Given the description of an element on the screen output the (x, y) to click on. 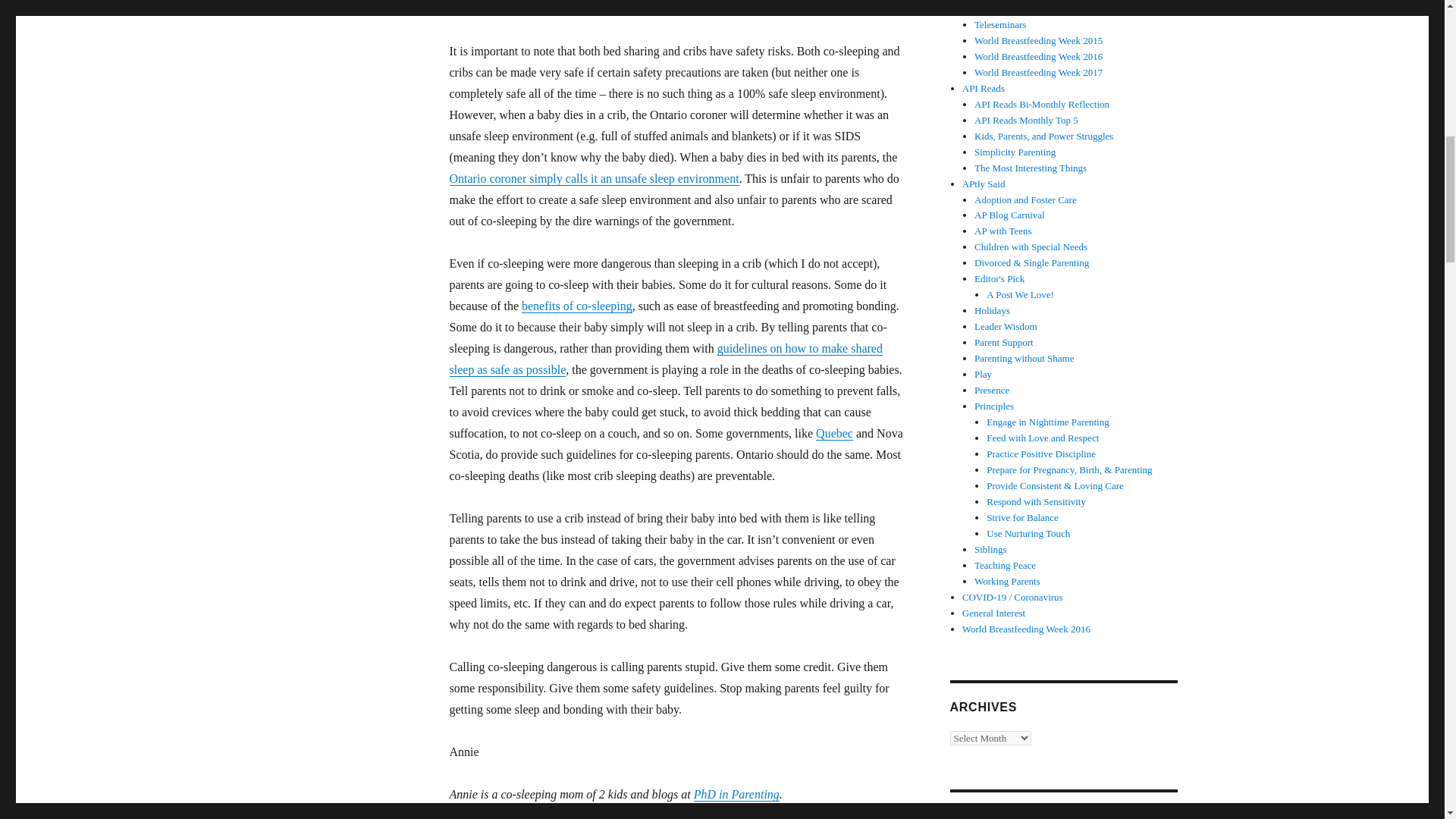
guidelines on how to make shared sleep as safe as possible (665, 358)
PhD in Parenting (736, 793)
benefits of co-sleeping (576, 305)
Quebec (834, 432)
Reading of the book "Kids, Parents, and Power Struggles". (1043, 135)
Ontario coroner simply calls it an unsafe sleep environment (593, 178)
